Given the description of an element on the screen output the (x, y) to click on. 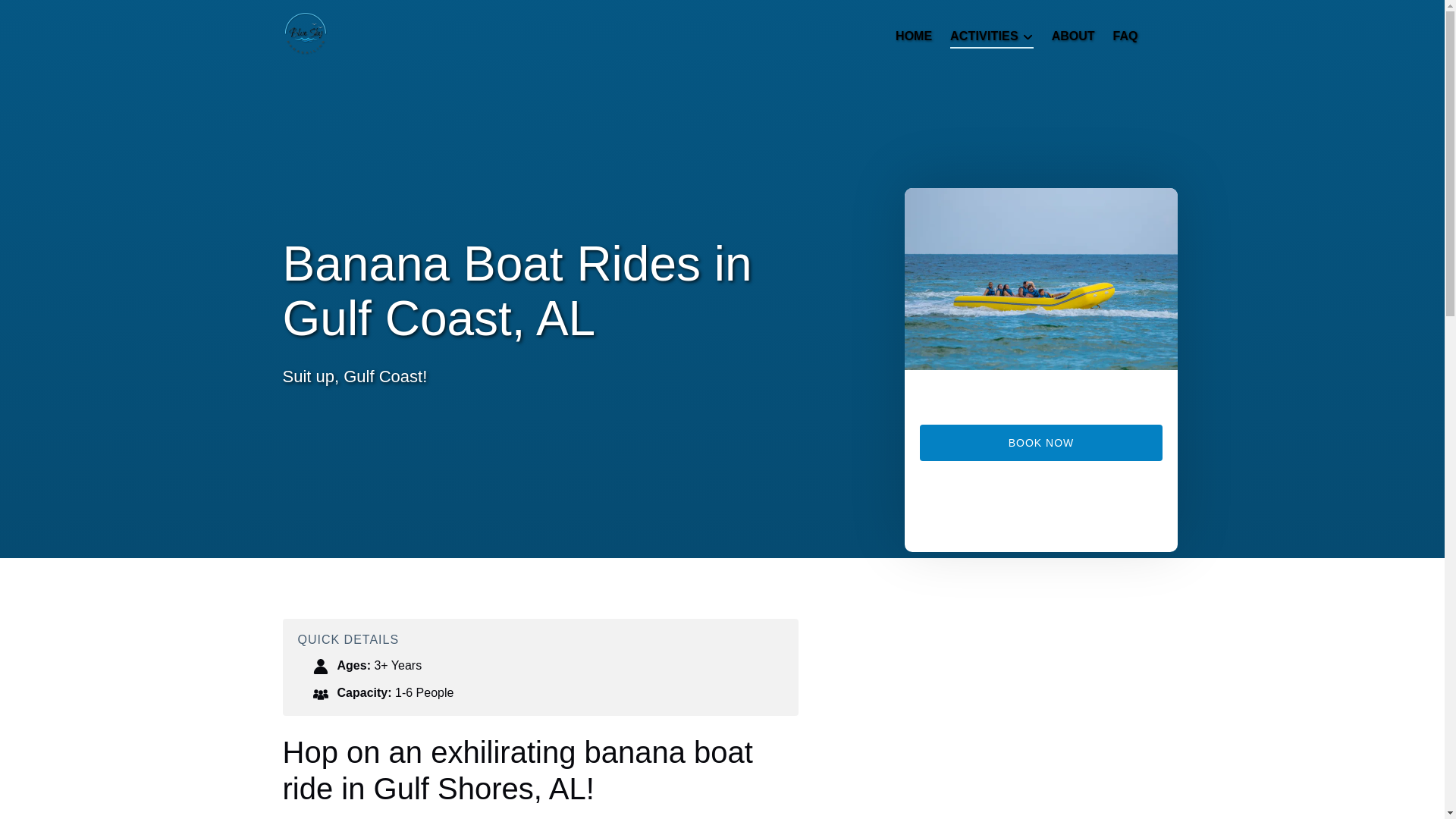
Users (320, 693)
ABOUT (1072, 35)
Skip to footer (42, 16)
HOME (913, 35)
ACTIVITIES (991, 35)
Open Activities Menu (995, 32)
BOOK NOW (1039, 443)
FAQ (1125, 35)
FareHarbor (1040, 513)
Skip to primary navigation (77, 16)
